Given the description of an element on the screen output the (x, y) to click on. 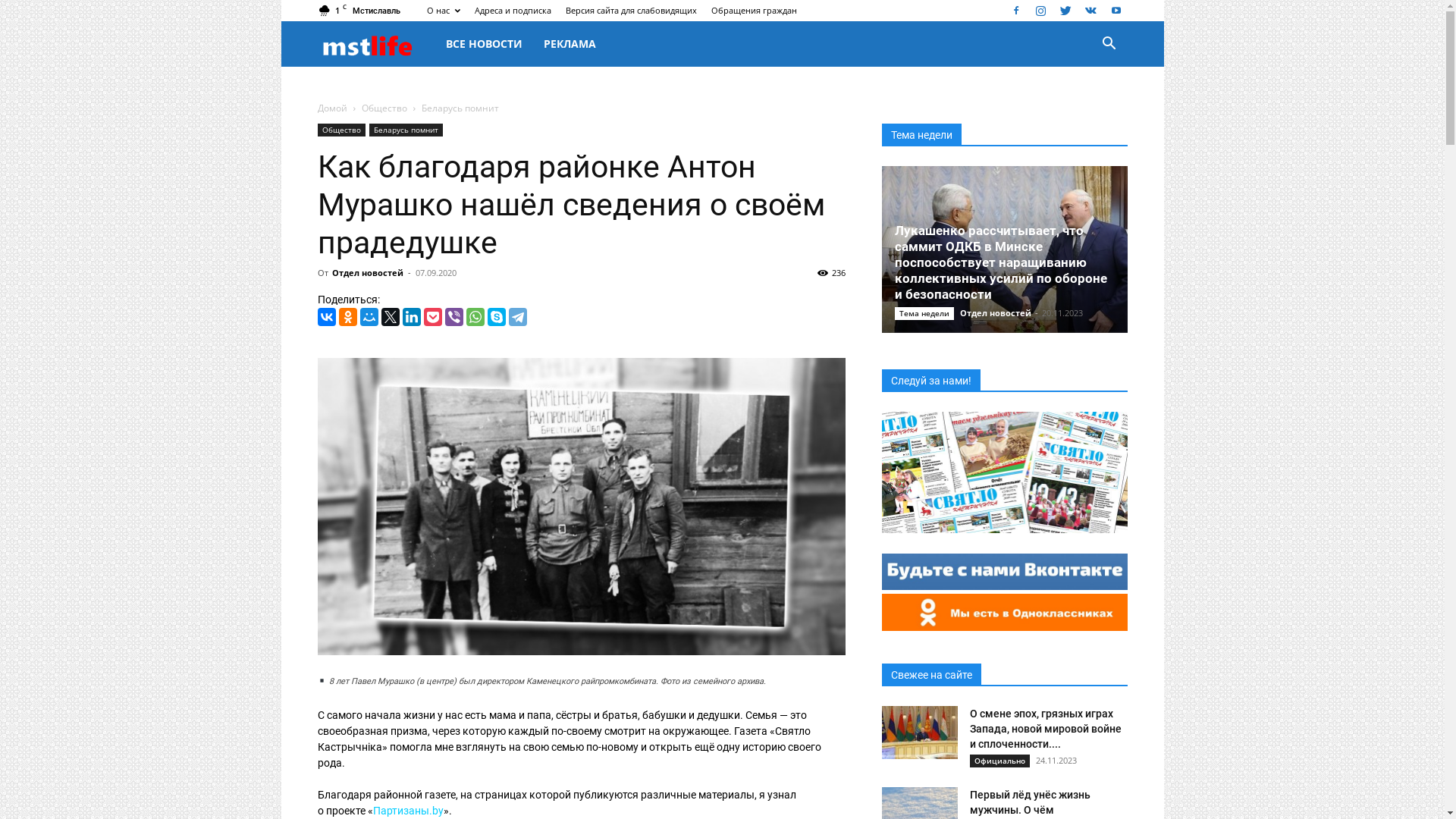
WhatsApp Element type: hover (474, 316)
Facebook Element type: hover (1015, 10)
1 Element type: hover (580, 506)
Youtube Element type: hover (1115, 10)
Skype Element type: hover (495, 316)
Instagram Element type: hover (1040, 10)
VKontakte Element type: hover (1090, 10)
Twitter Element type: hover (389, 316)
Twitter Element type: hover (1065, 10)
LinkedIn Element type: hover (410, 316)
Viber Element type: hover (453, 316)
mstlife.by Element type: text (375, 44)
Pocket Element type: hover (432, 316)
Telegram Element type: hover (517, 316)
